Given the description of an element on the screen output the (x, y) to click on. 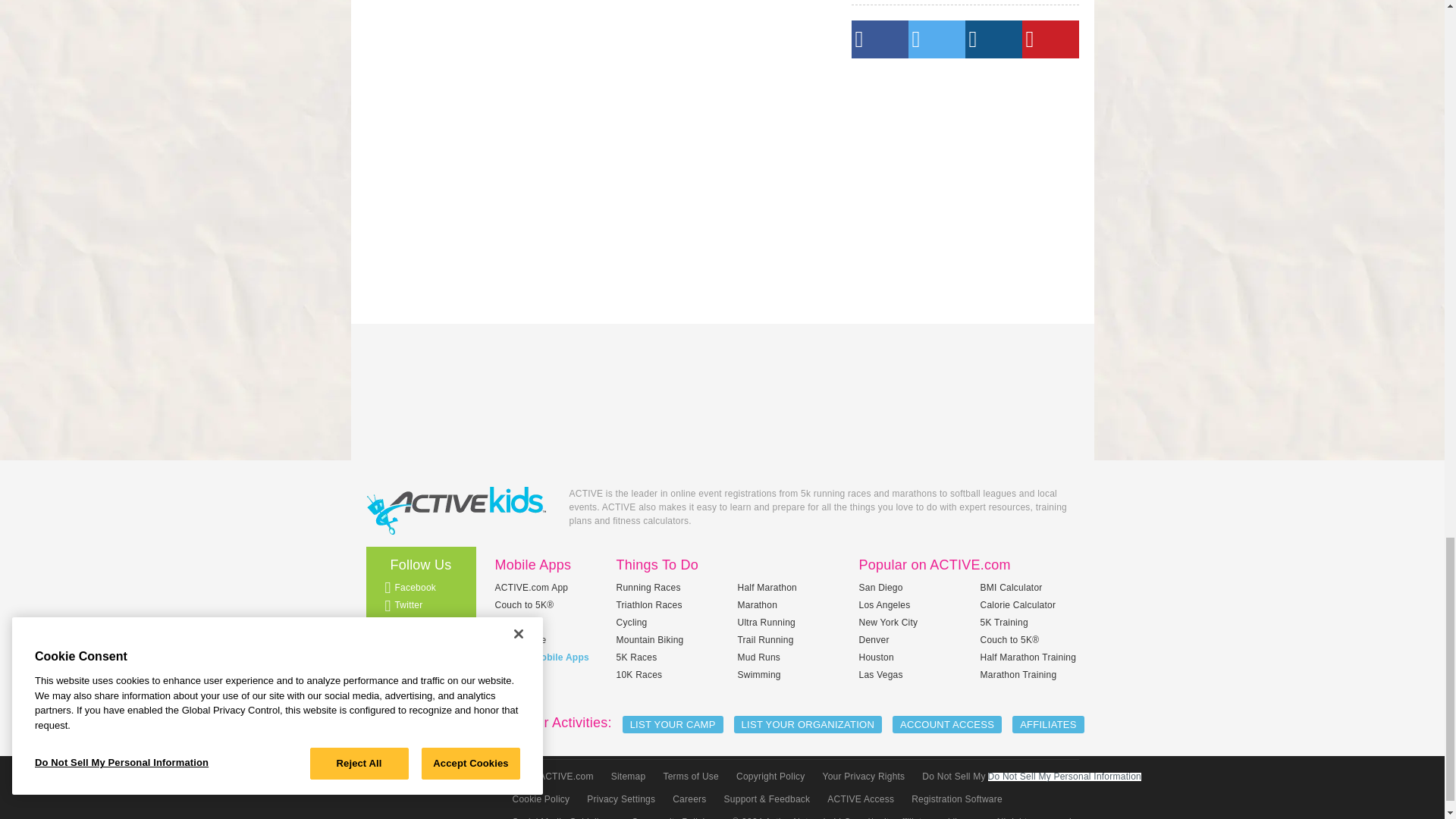
Do Not Sell My Personal Information (997, 775)
3rd party ad content (964, 183)
Terms of Use (689, 775)
3rd party ad content (721, 380)
Your Privacy Rights: Updated (862, 775)
Copyright Policy (769, 775)
